Given the description of an element on the screen output the (x, y) to click on. 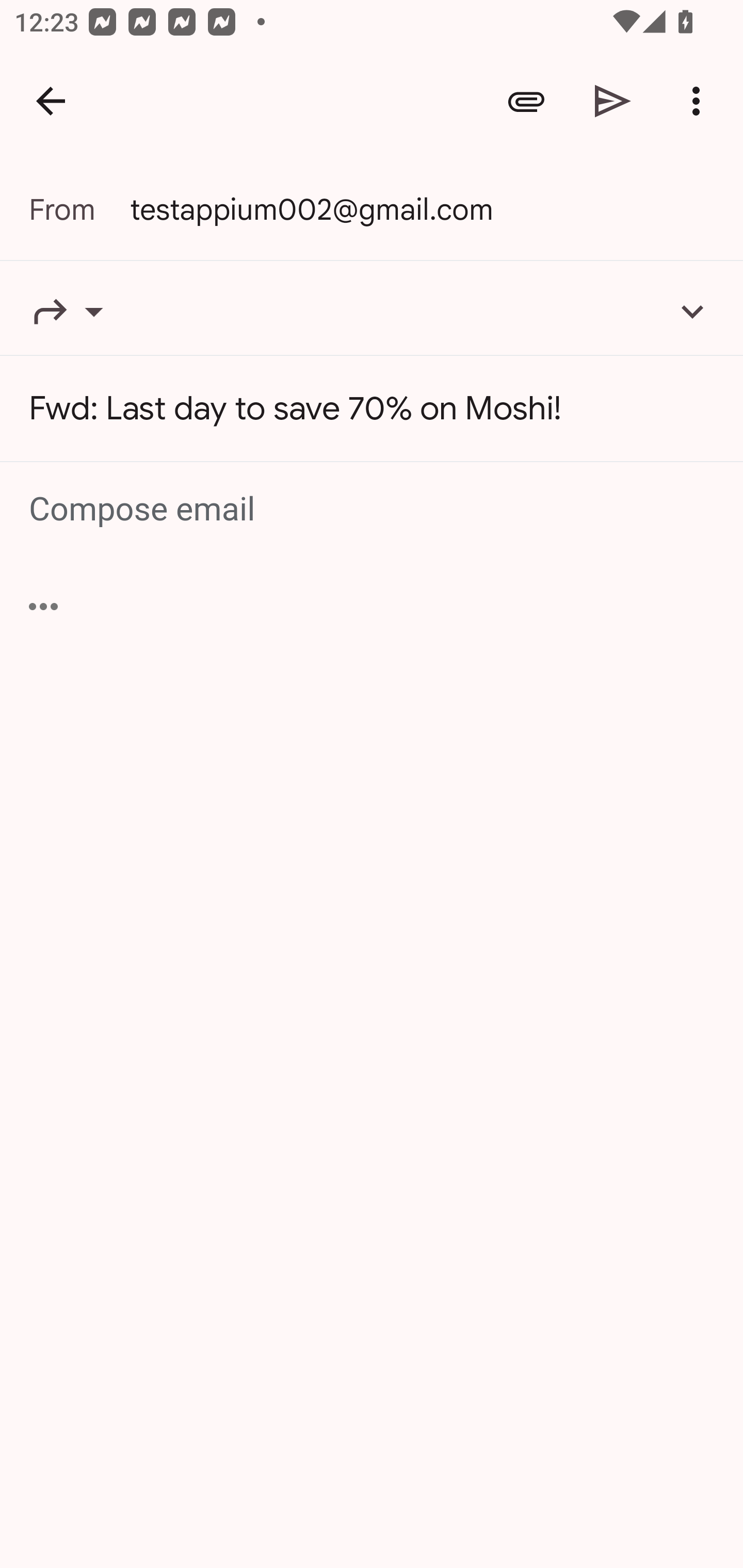
Navigate up (50, 101)
Attach file (525, 101)
Send (612, 101)
More options (699, 101)
From (79, 209)
Forward (79, 311)
Add Cc/Bcc (692, 311)
Fwd: Last day to save 70% on Moshi! (371, 407)
Compose email (372, 509)
Include quoted text (43, 605)
